Given the description of an element on the screen output the (x, y) to click on. 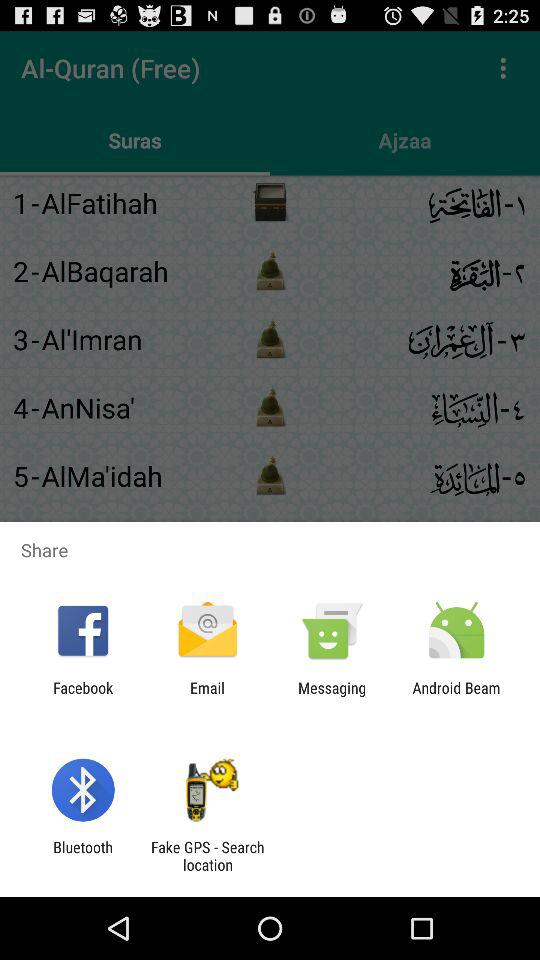
swipe to the bluetooth icon (82, 856)
